Given the description of an element on the screen output the (x, y) to click on. 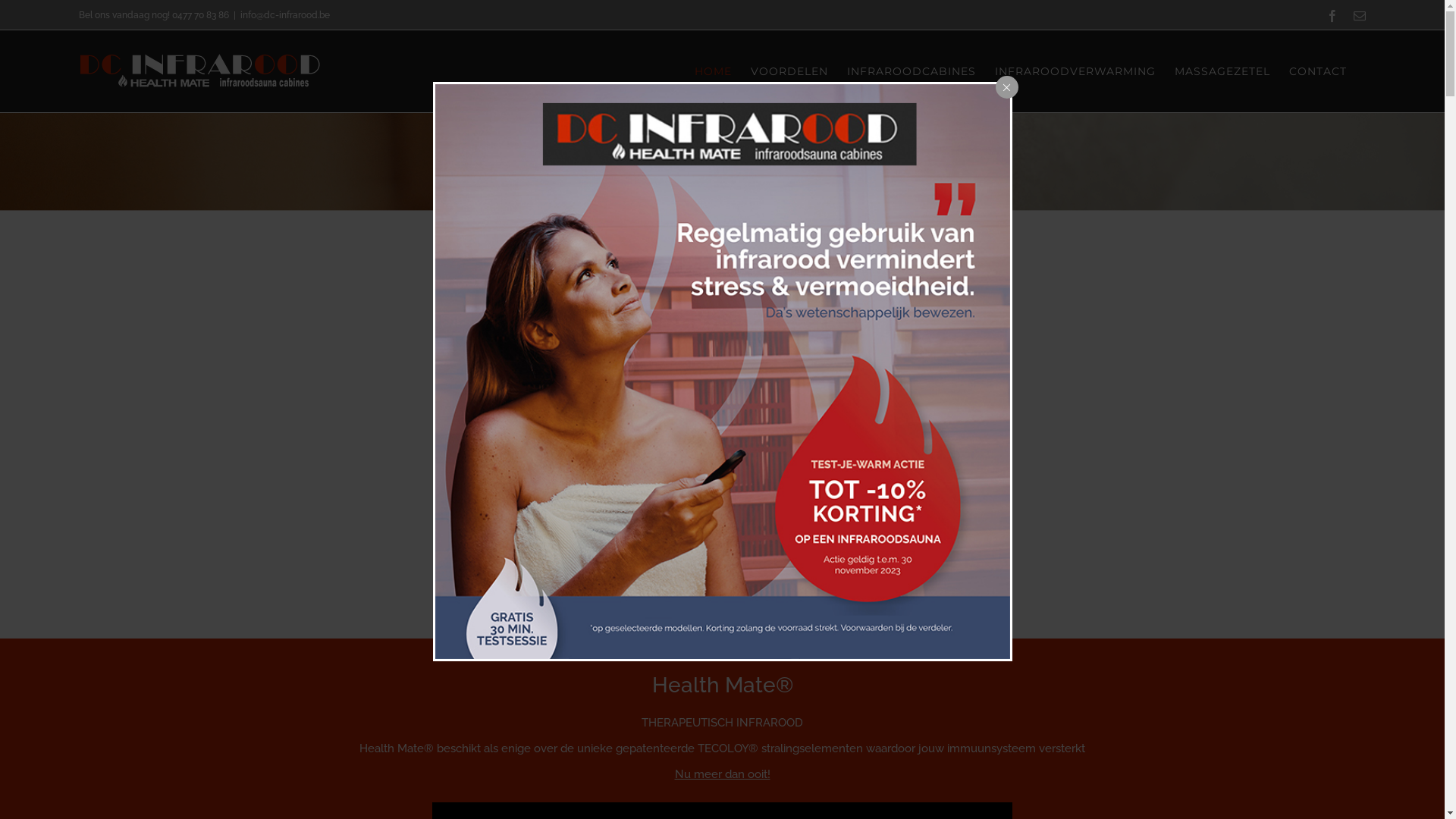
info@dc-infrarood.be Element type: text (284, 14)
HOME Element type: text (712, 71)
Facebook Element type: text (1332, 15)
INFRAROODVERWARMING Element type: text (1074, 71)
BROCHURE NL Element type: text (644, 546)
CONTACT Element type: text (1317, 71)
INFRAROODCABINES Element type: text (911, 71)
MASSAGEZETEL Element type: text (1222, 71)
BROCHURE FR Element type: text (800, 546)
E-mail Element type: text (1359, 15)
VOORDELEN Element type: text (789, 71)
